Given the description of an element on the screen output the (x, y) to click on. 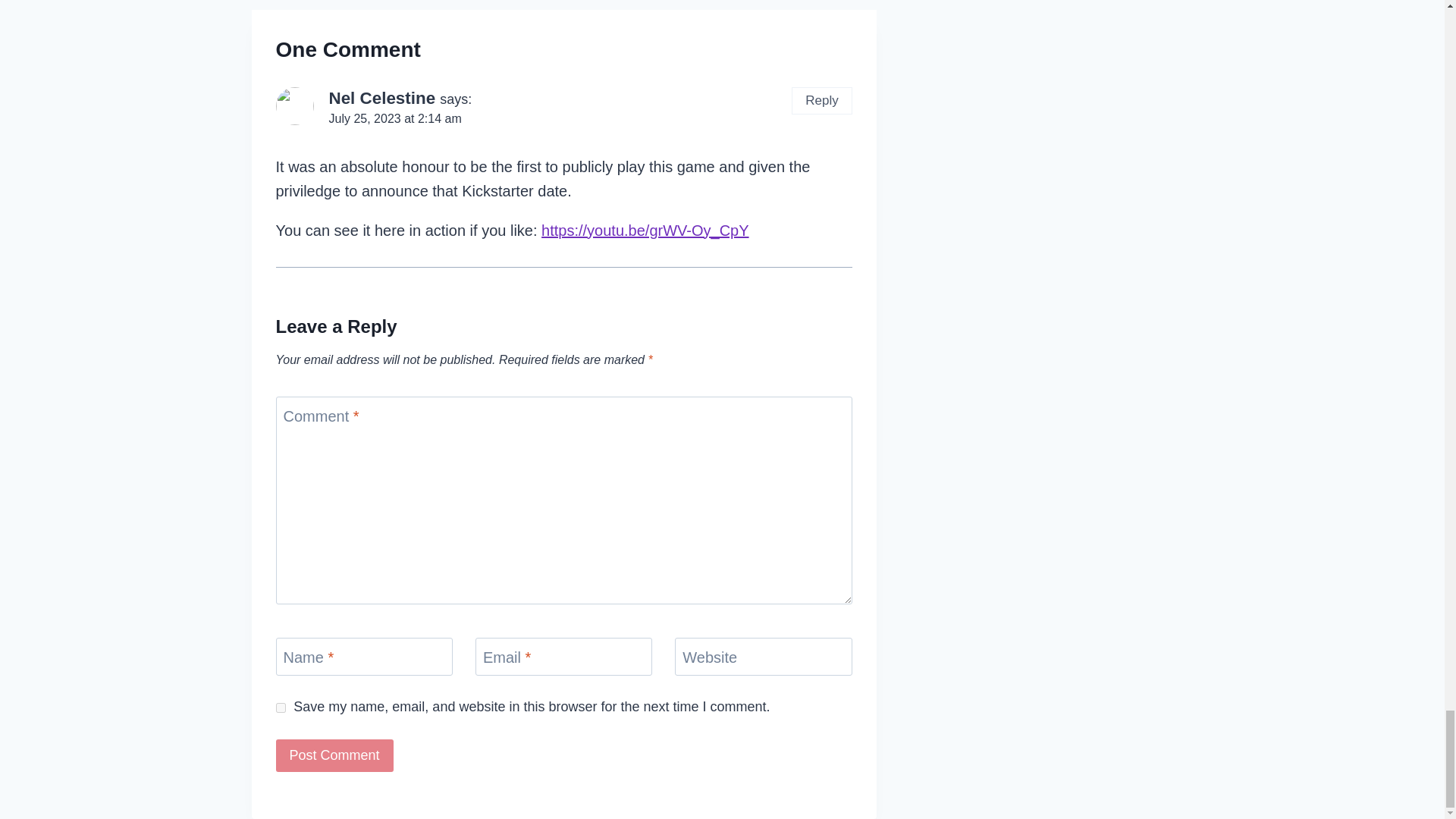
Post Comment (334, 755)
yes (280, 707)
